Given the description of an element on the screen output the (x, y) to click on. 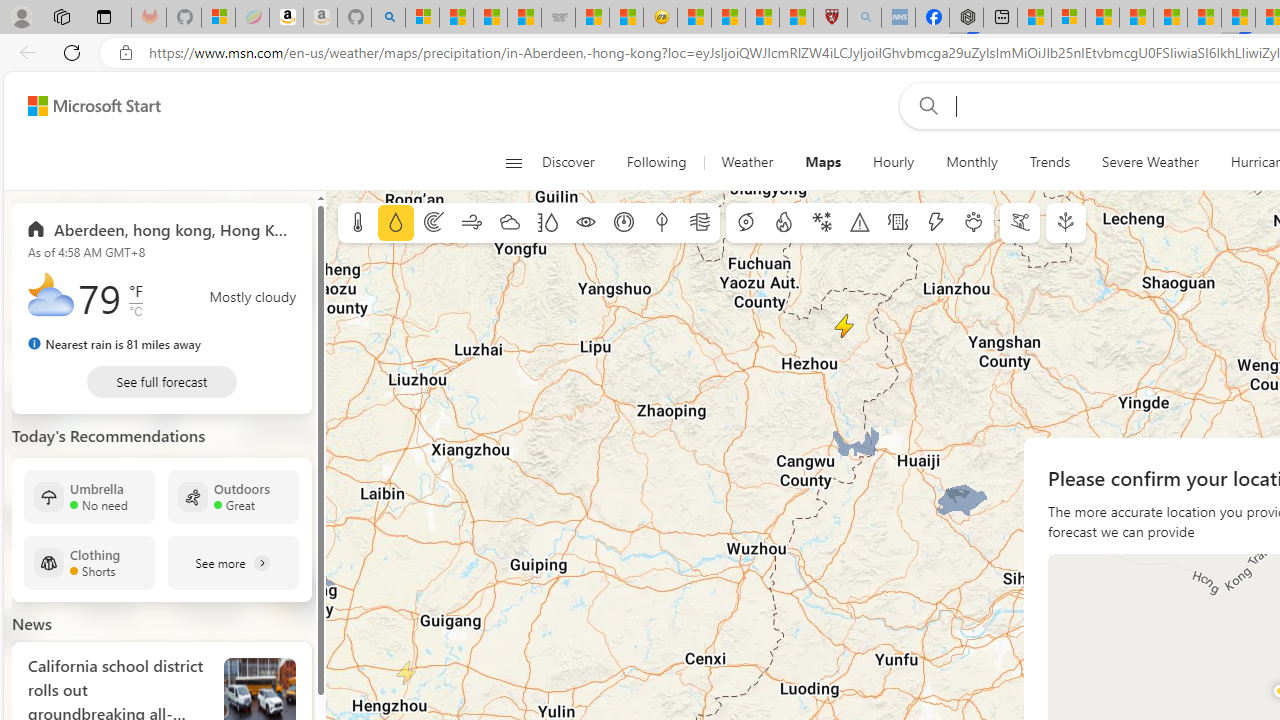
Microsoft Start (1101, 17)
NCL Adult Asthma Inhaler Choice Guideline - Sleeping (898, 17)
Stocks - MSN (524, 17)
Hourly (893, 162)
Severe Weather (1149, 162)
Visibility (586, 223)
Personal Profile (21, 16)
12 Popular Science Lies that Must be Corrected (795, 17)
Monthly (971, 162)
Skip to content (86, 105)
Severe weather (860, 223)
Dew point (661, 223)
